Given the description of an element on the screen output the (x, y) to click on. 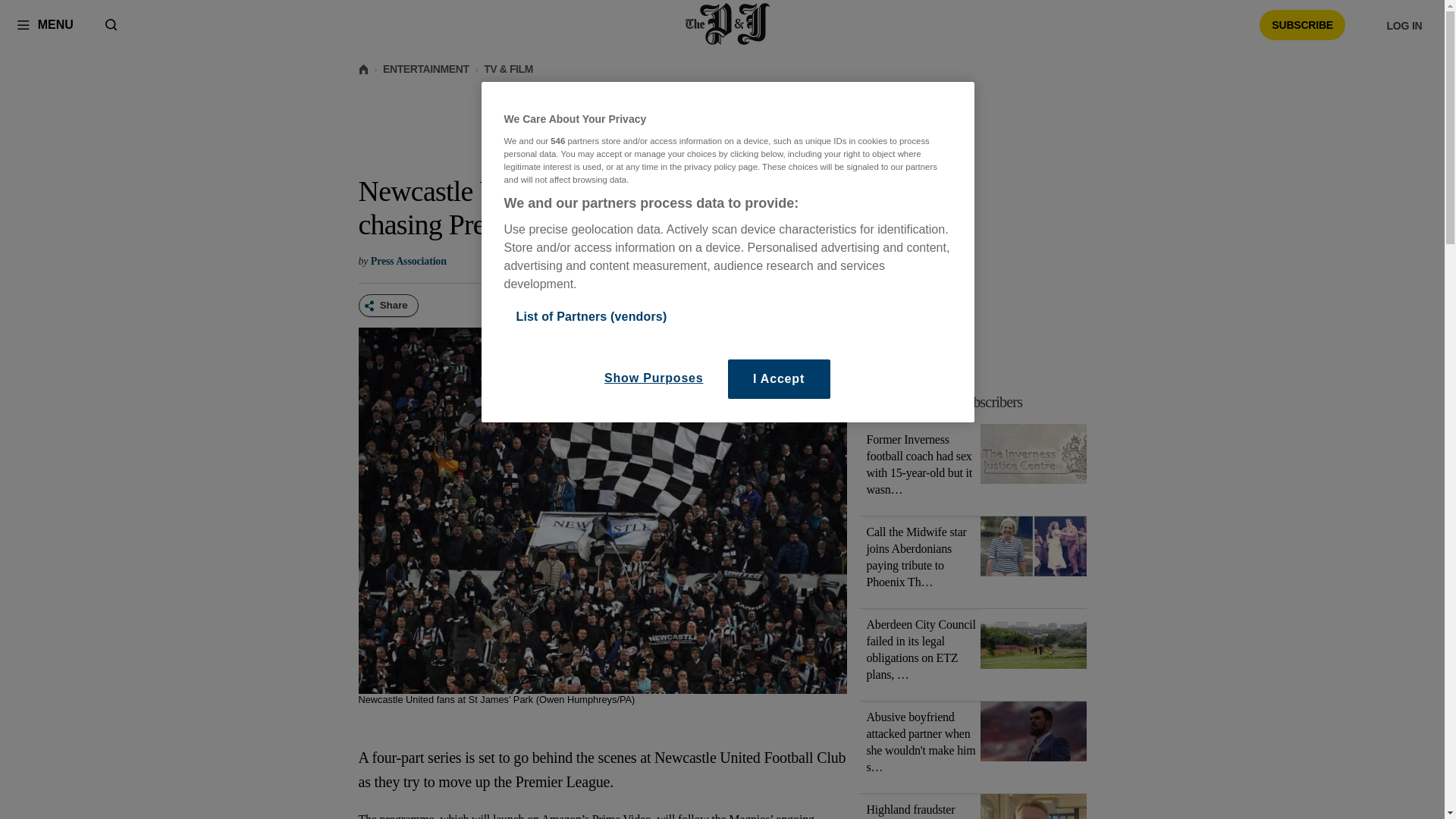
Exclusive to our subscribers (981, 402)
Press and Journal (727, 24)
MENU (44, 24)
Exclusive to our subscribers (944, 402)
